Given the description of an element on the screen output the (x, y) to click on. 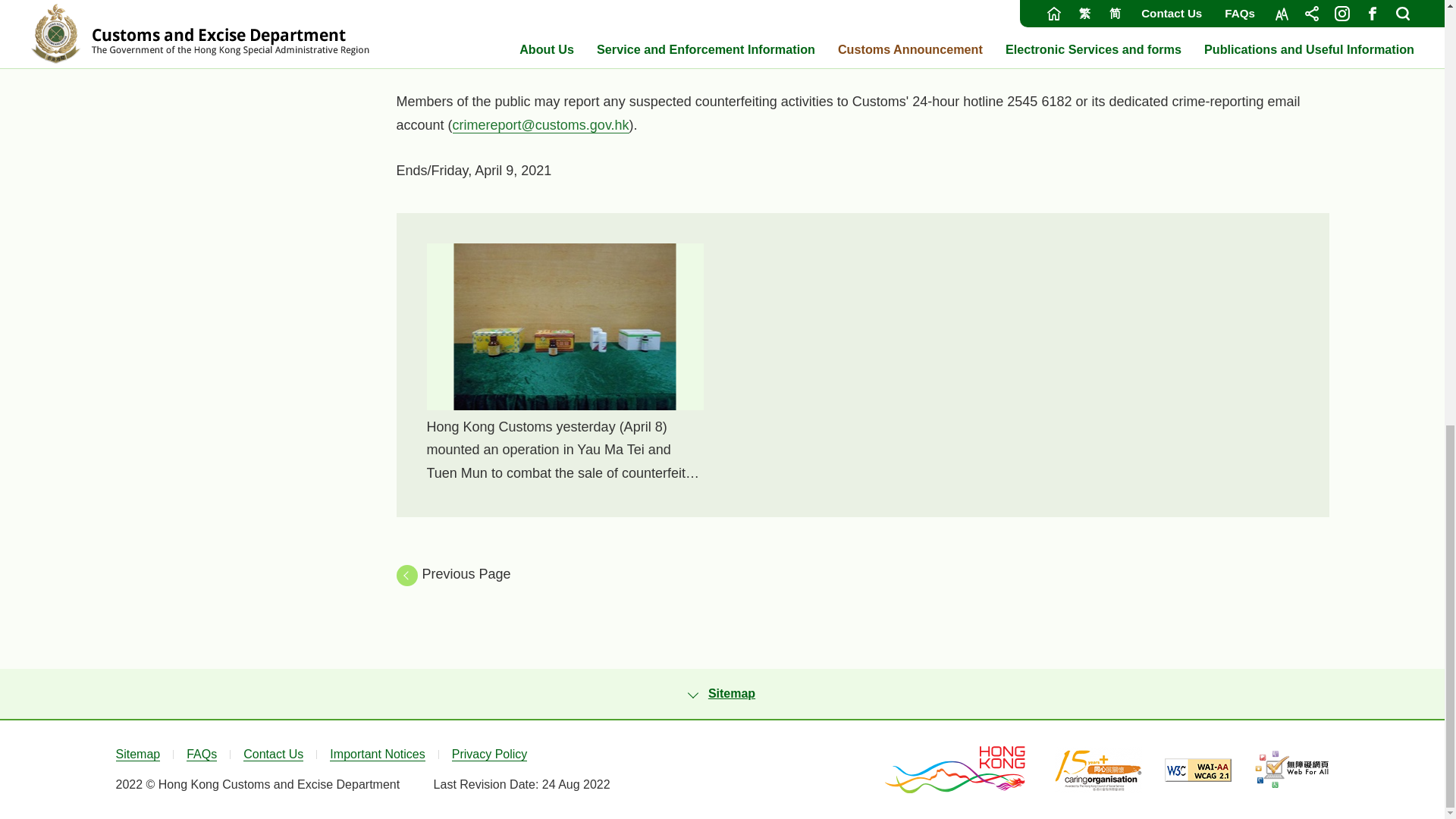
Caring Organisation, This link will open in new window (1097, 769)
WCAG 2.1 AA, This link will open in new window (1197, 770)
